Given the description of an element on the screen output the (x, y) to click on. 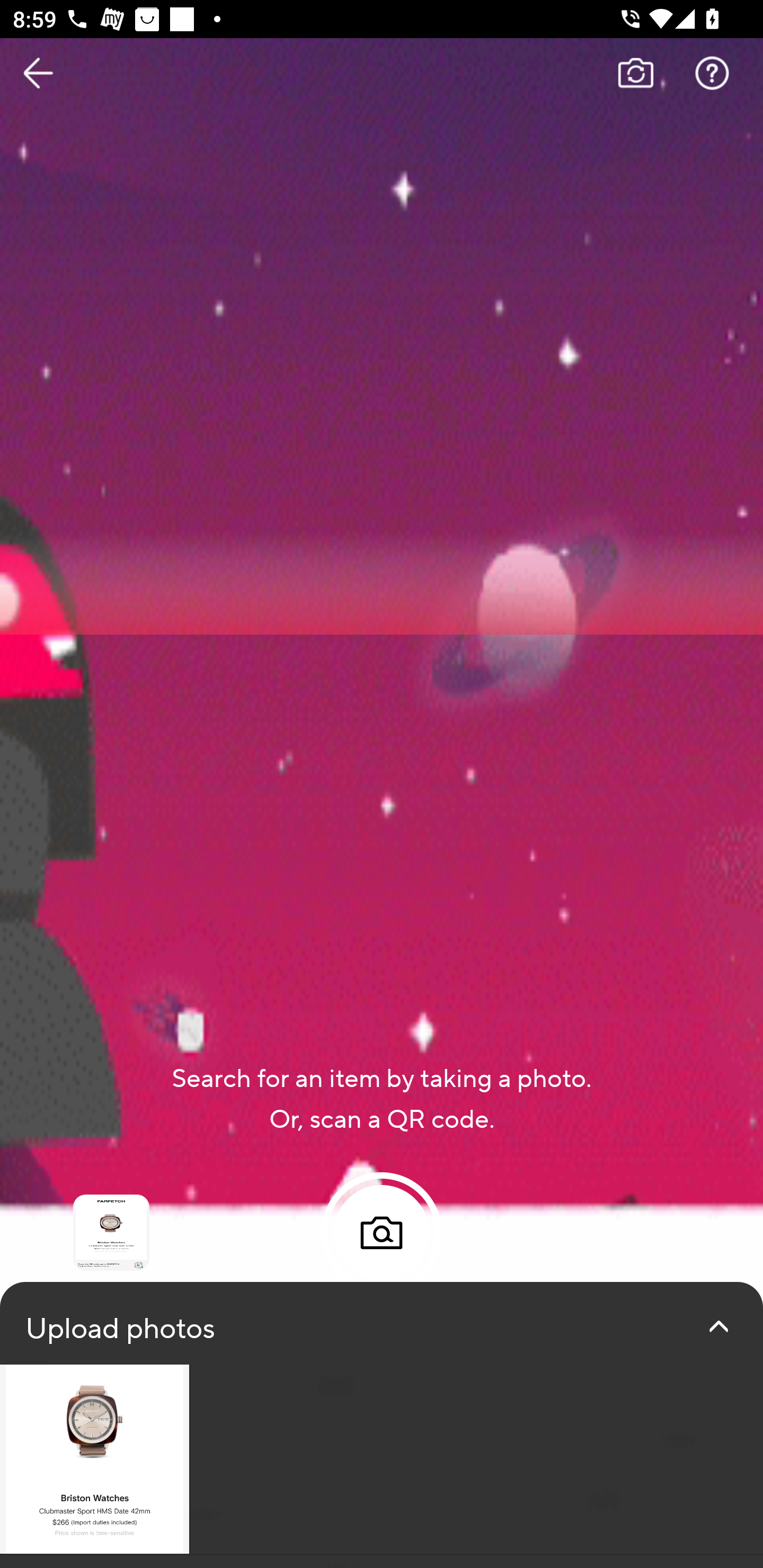
Upload photos  (381, 1425)
 (718, 1326)
